Given the description of an element on the screen output the (x, y) to click on. 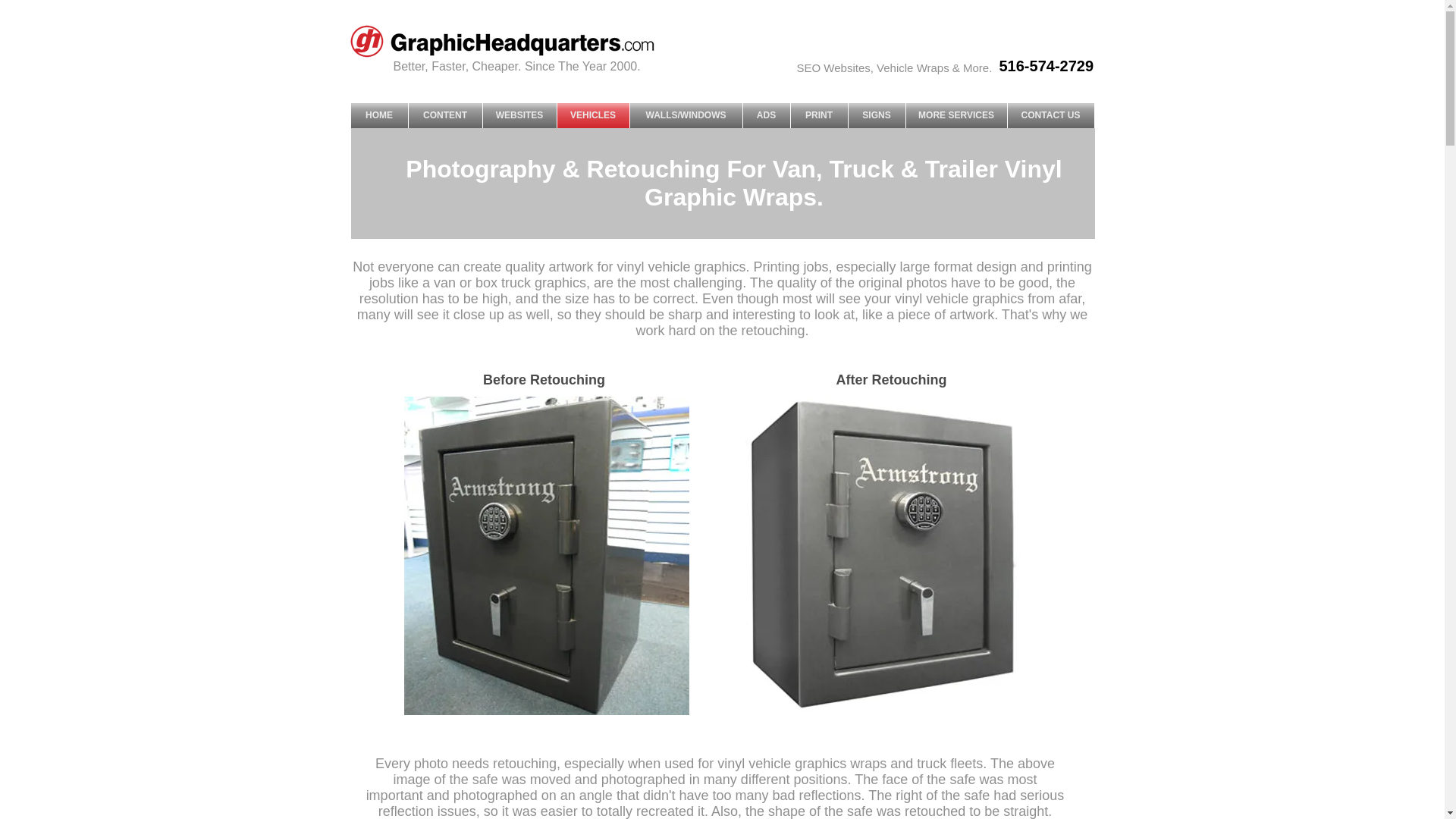
MORE SERVICES (955, 115)
website design vehicle graphics and more (523, 42)
PRINT (818, 115)
VEHICLES (592, 115)
ADS (766, 115)
HOME (378, 115)
WEBSITES (518, 115)
The Best Van Truck Graphic Wraps In Orlando (888, 555)
Facebook Like (1071, 46)
CONTENT (444, 115)
